Given the description of an element on the screen output the (x, y) to click on. 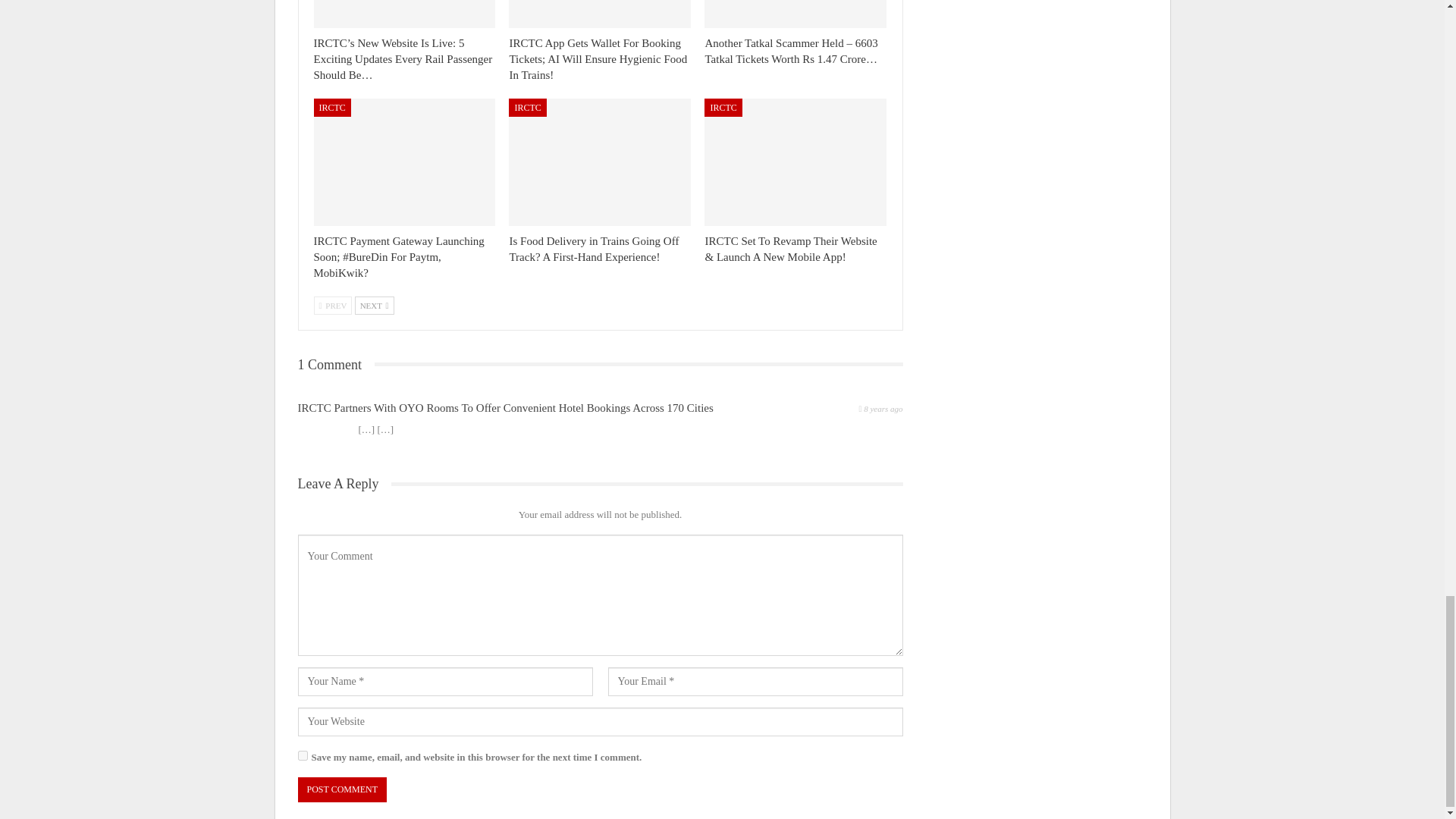
yes (302, 799)
